Given the description of an element on the screen output the (x, y) to click on. 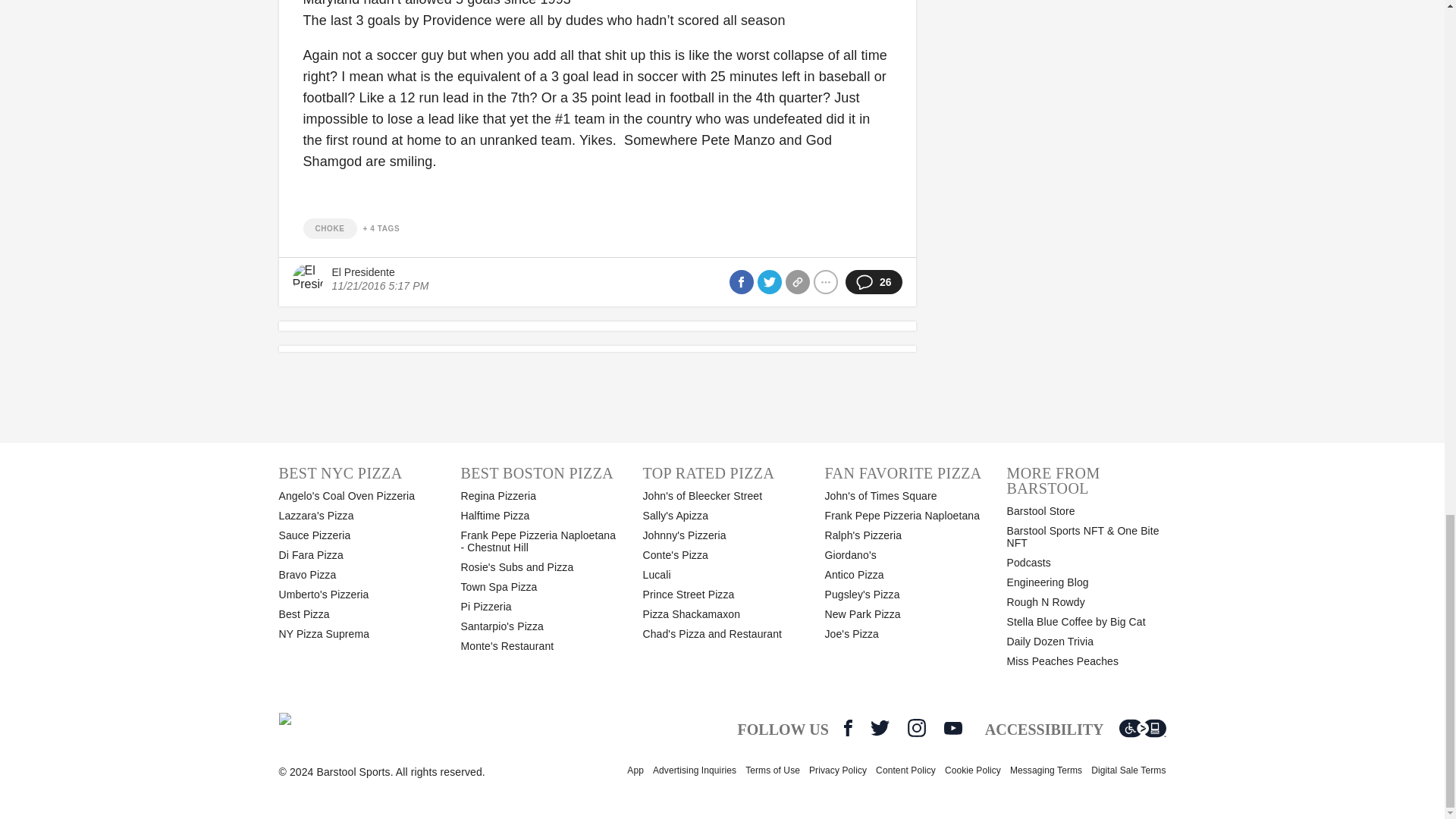
Instagram Icon (916, 728)
Twitter Icon (879, 728)
YouTube Icon (952, 728)
Facebook Icon (847, 728)
Level Access website accessibility icon (1142, 728)
